Given the description of an element on the screen output the (x, y) to click on. 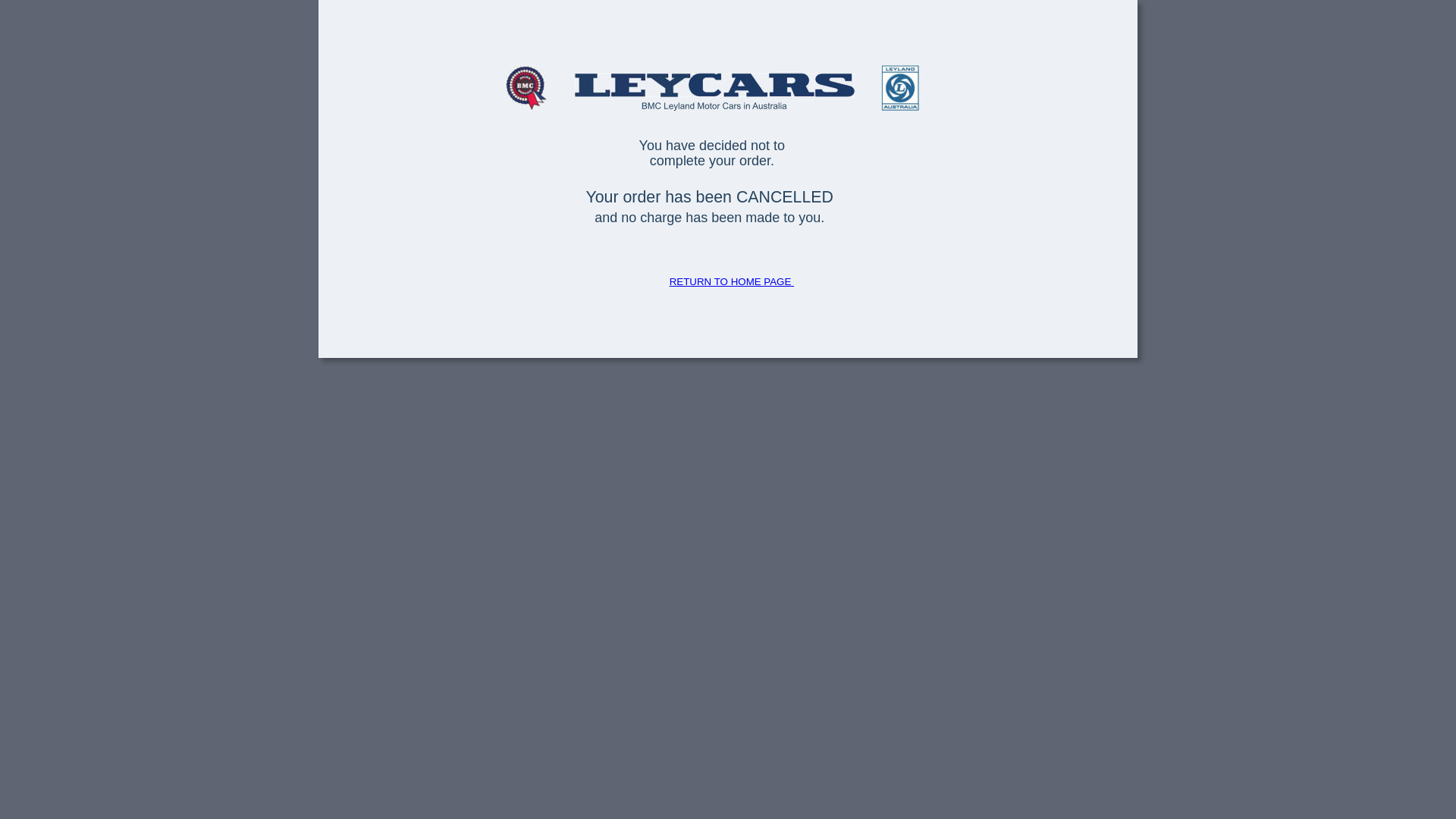
RETURN TO HOME PAGE  Element type: text (731, 281)
